Given the description of an element on the screen output the (x, y) to click on. 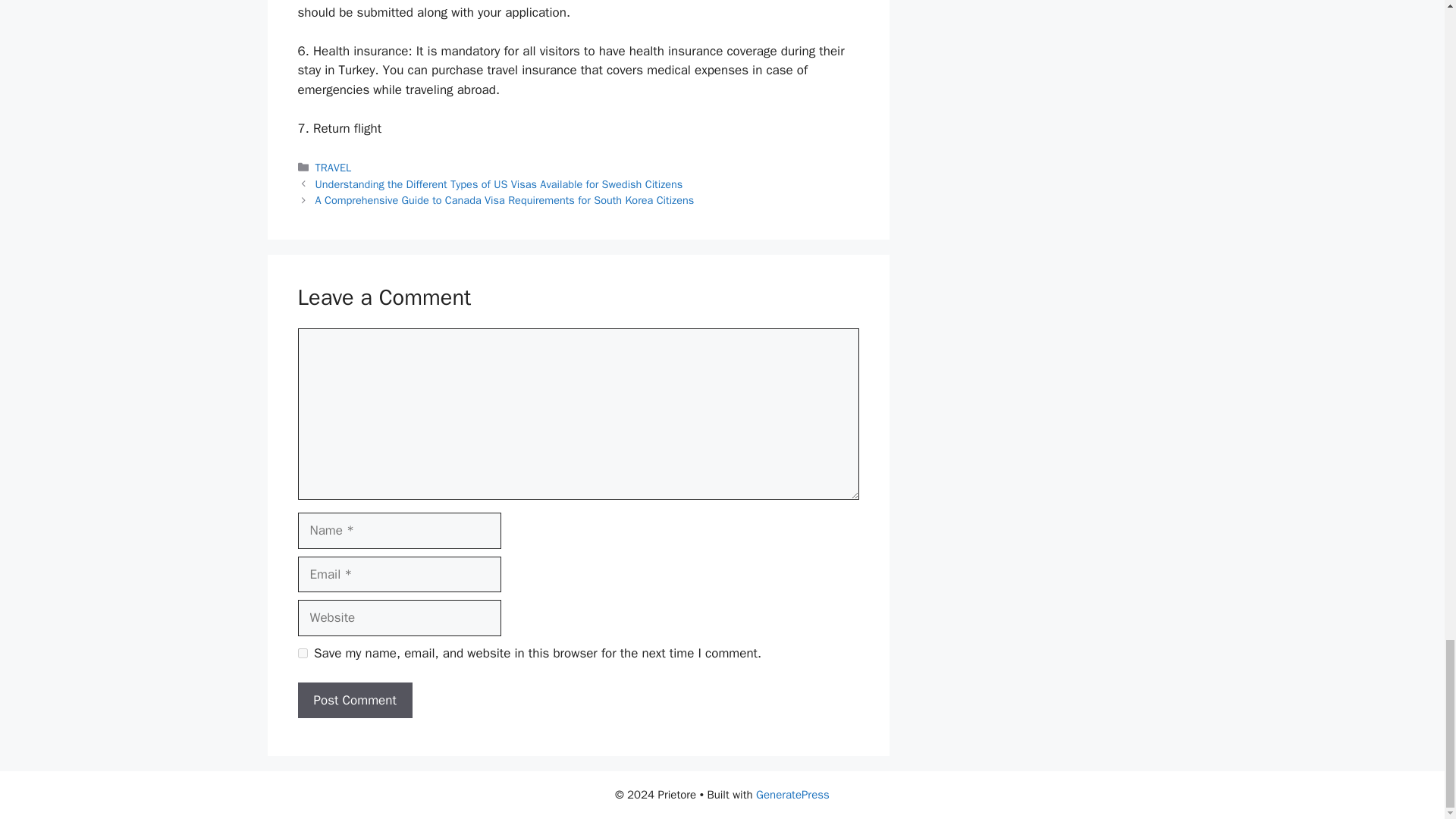
TRAVEL (333, 167)
GeneratePress (792, 794)
Post Comment (354, 700)
yes (302, 653)
Post Comment (354, 700)
